Given the description of an element on the screen output the (x, y) to click on. 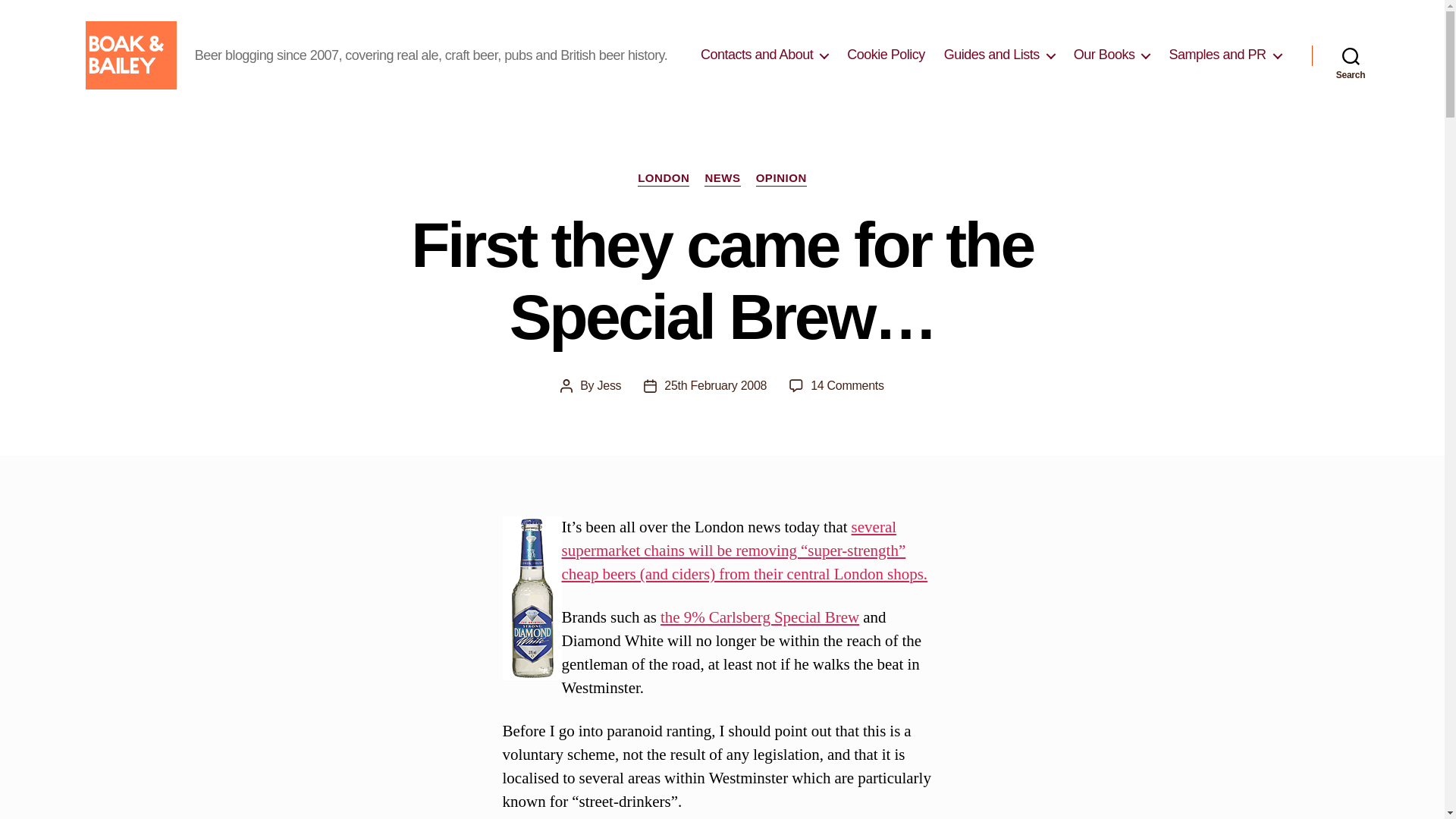
Search (1350, 55)
Contacts and About (764, 54)
Cookie Policy (885, 54)
Guides and Lists (998, 54)
Samples and PR (1225, 54)
Our Books (1112, 54)
